Given the description of an element on the screen output the (x, y) to click on. 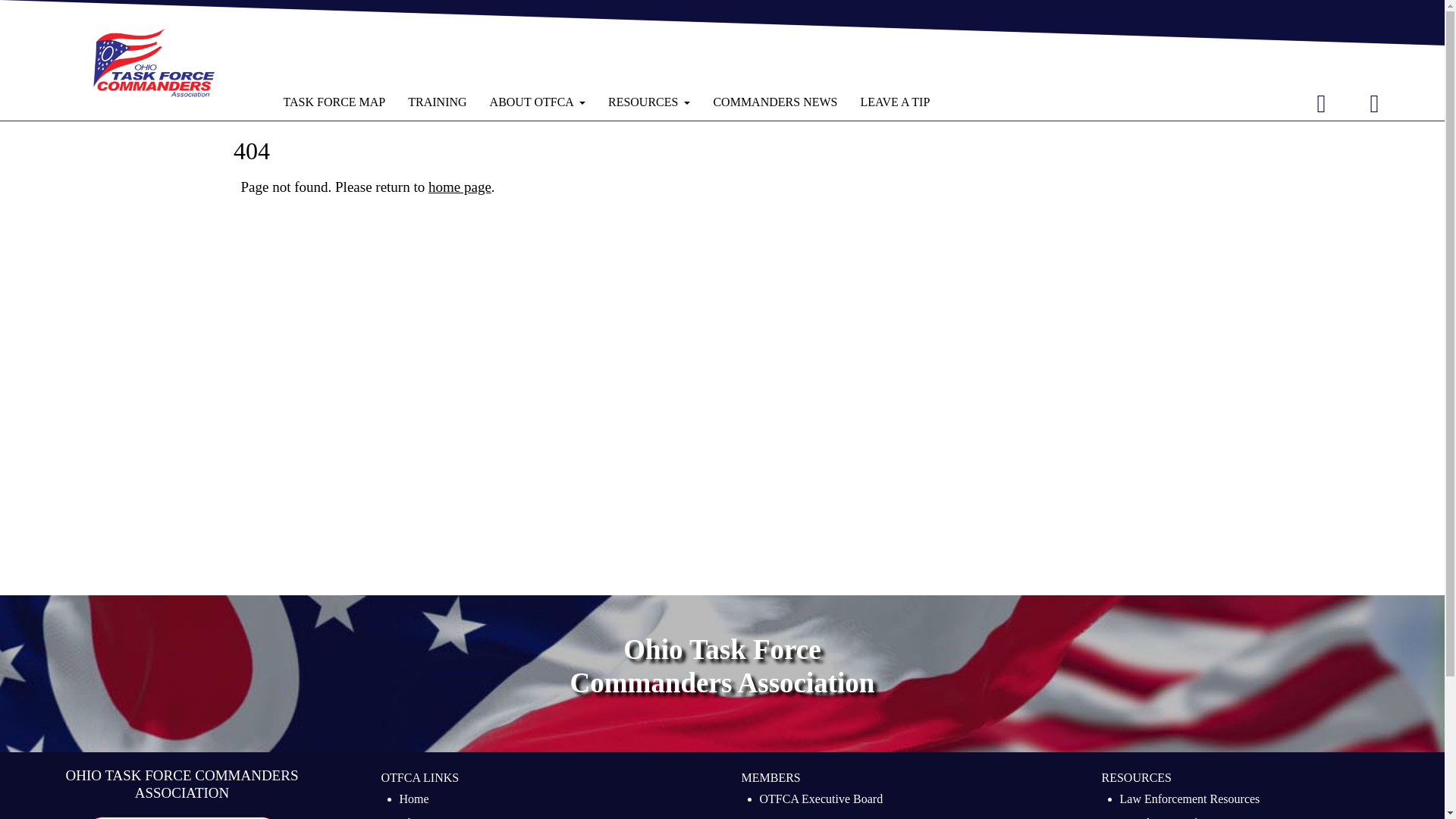
OTFCA Executive Board (821, 800)
leave a tip button (181, 817)
ABOUT OTFCA (537, 101)
OTFCA District Directors (823, 816)
home page (460, 186)
TRAINING (436, 101)
About OTFCA (434, 816)
Home (413, 800)
instgram icon (1374, 103)
LEAVE A TIP (181, 817)
